Given the description of an element on the screen output the (x, y) to click on. 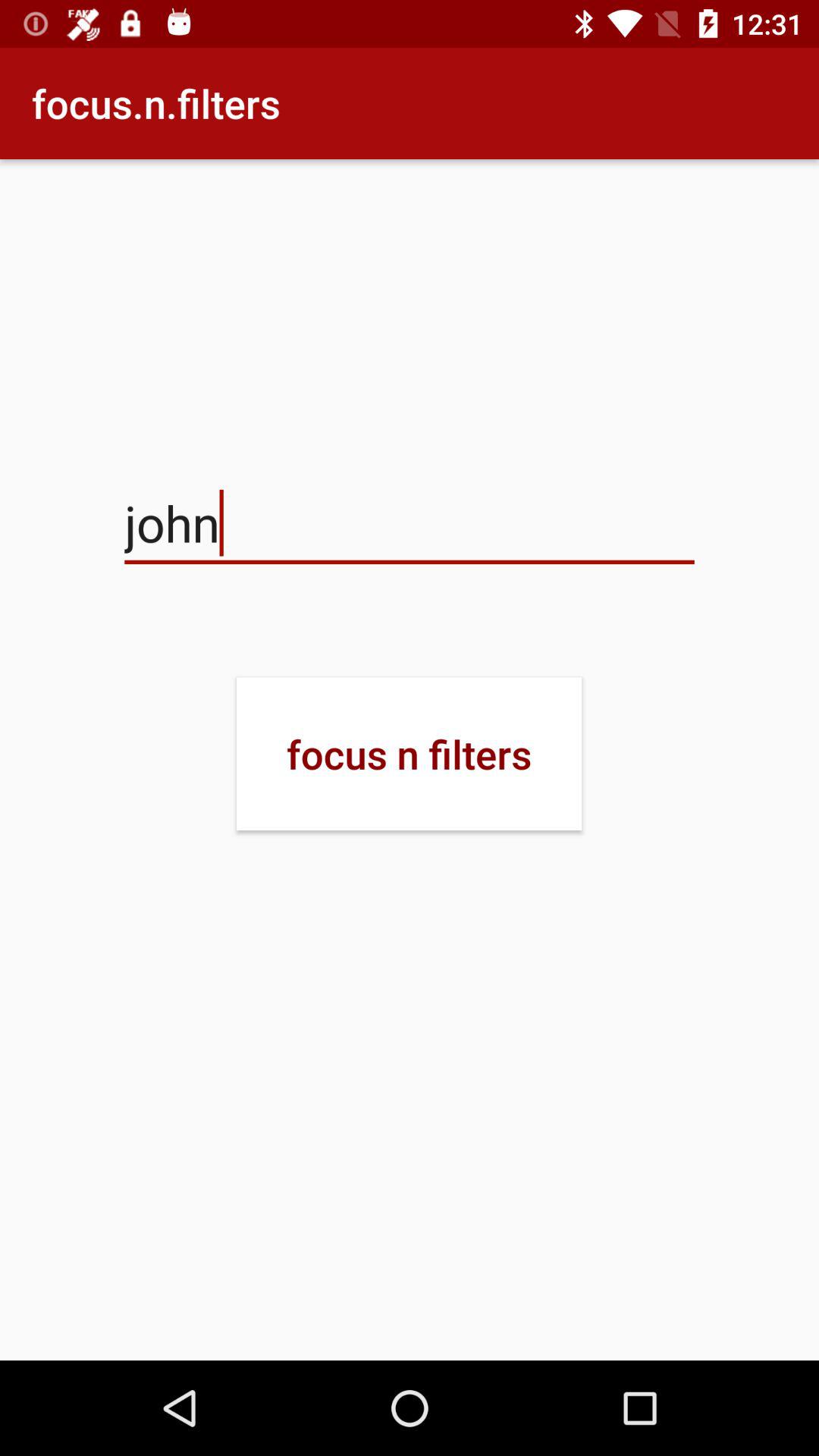
press john (409, 523)
